Given the description of an element on the screen output the (x, y) to click on. 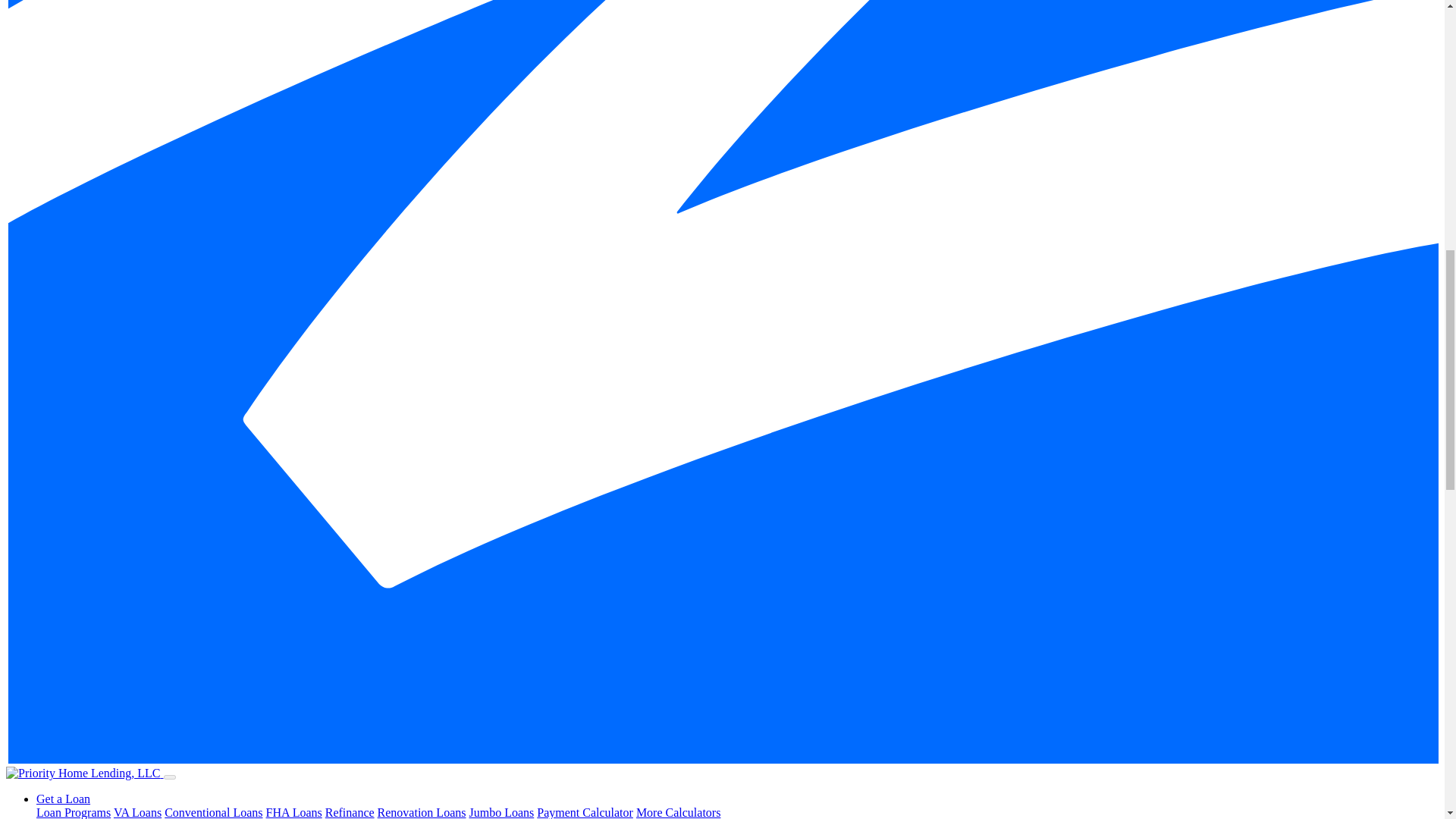
Payment Calculator (585, 812)
Conventional Loans (213, 812)
FHA Loans (292, 812)
Refinance (349, 812)
Jumbo Loans (501, 812)
More Calculators (678, 812)
Loan Programs (73, 812)
Renovation Loans (421, 812)
Get a Loan (63, 798)
VA Loans (137, 812)
